Given the description of an element on the screen output the (x, y) to click on. 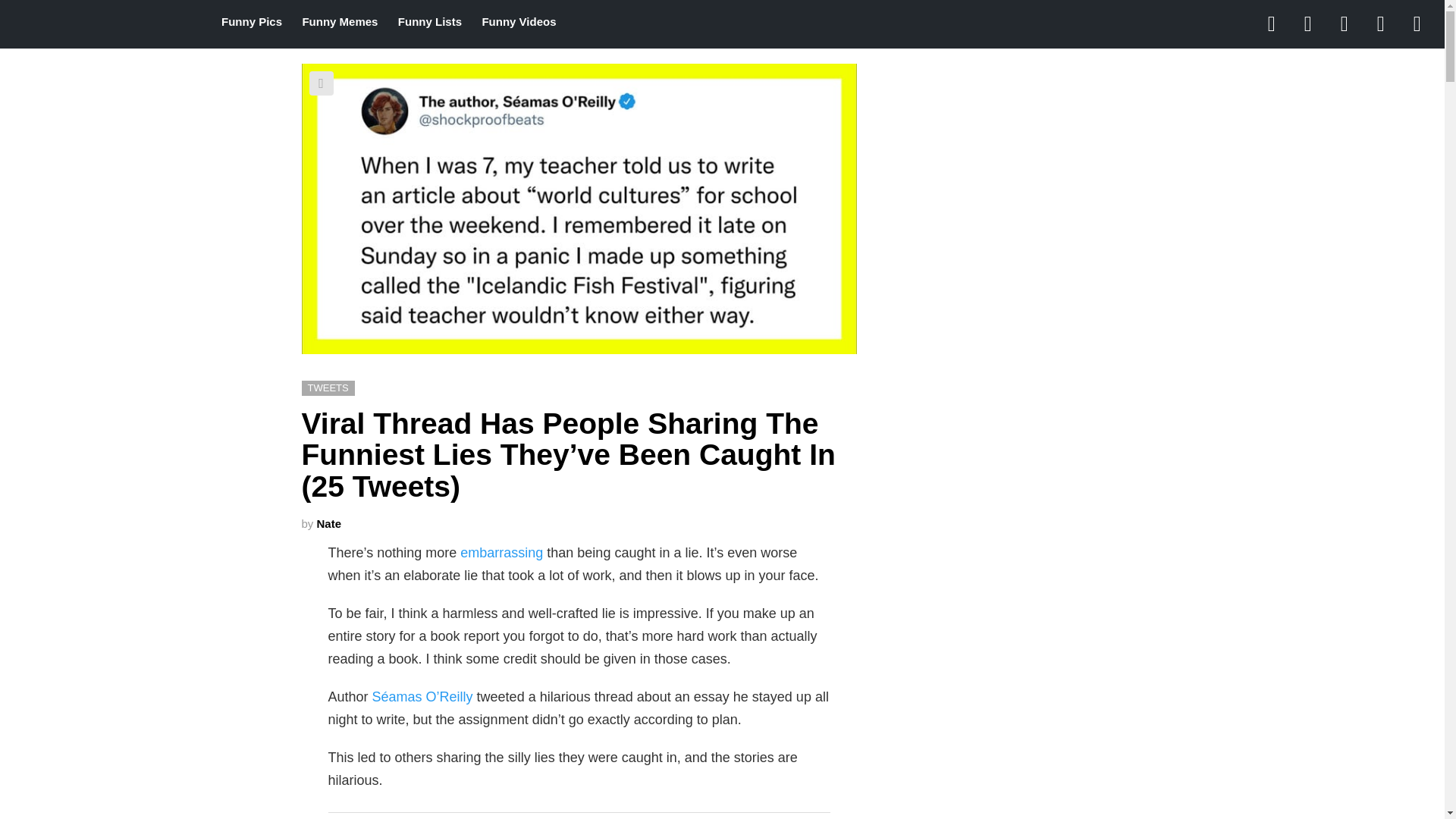
Funny Pics (251, 21)
facebook (1271, 23)
youtube (1417, 23)
Posts by Nate (329, 522)
Nate (329, 522)
instagram (1344, 23)
twitter (1308, 23)
embarrassing (501, 552)
tumblr (1380, 23)
Funny Lists (429, 21)
